Given the description of an element on the screen output the (x, y) to click on. 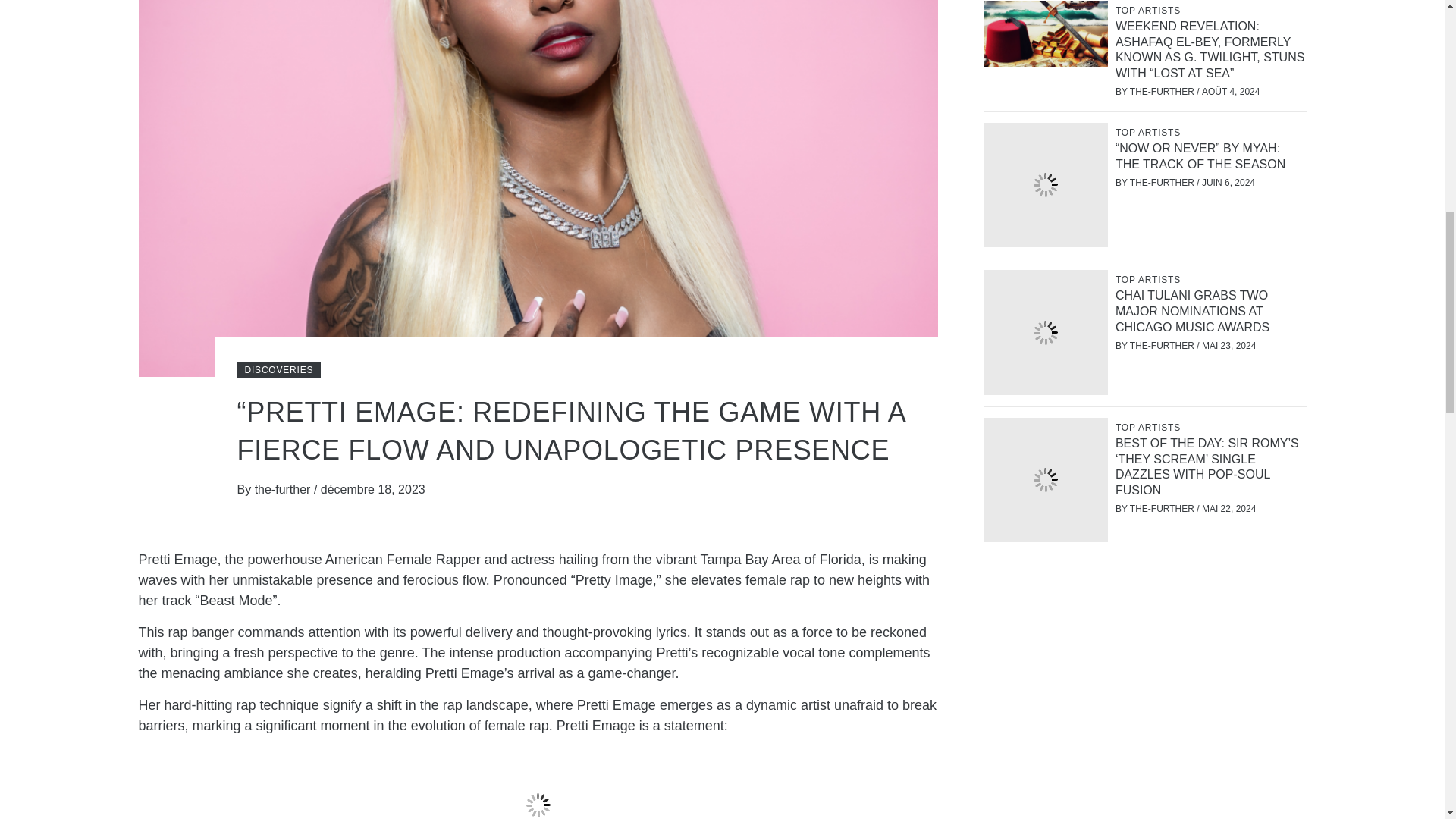
TOP ARTISTS (1150, 10)
Spotify Embed: Beast Mode (537, 783)
DISCOVERIES (277, 369)
TOP ARTISTS (1150, 132)
THE-FURTHER (1162, 182)
THE-FURTHER (1162, 91)
TOP ARTISTS (1150, 279)
the-further (284, 489)
